Given the description of an element on the screen output the (x, y) to click on. 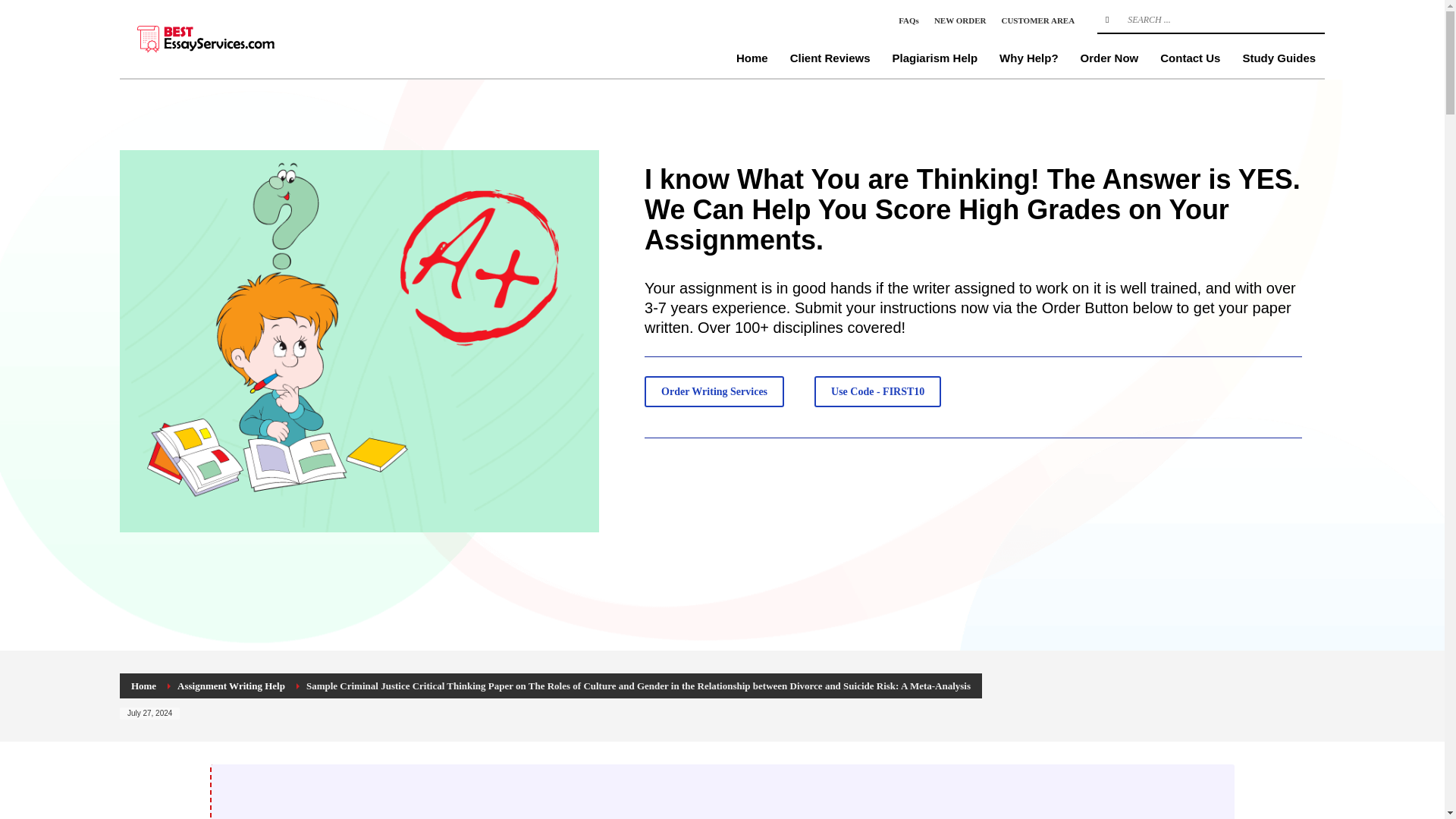
Contact Us (1189, 57)
Order Writing Services (714, 391)
Use Code - FIRST10 (876, 391)
Home (143, 685)
go (1107, 19)
Home (751, 57)
Study Guides (1278, 57)
FAQs (908, 20)
Assignment Writing Help (231, 685)
Why Help? (1028, 57)
Plagiarism Help (935, 57)
Client Reviews (829, 57)
Homework Help (233, 37)
